Given the description of an element on the screen output the (x, y) to click on. 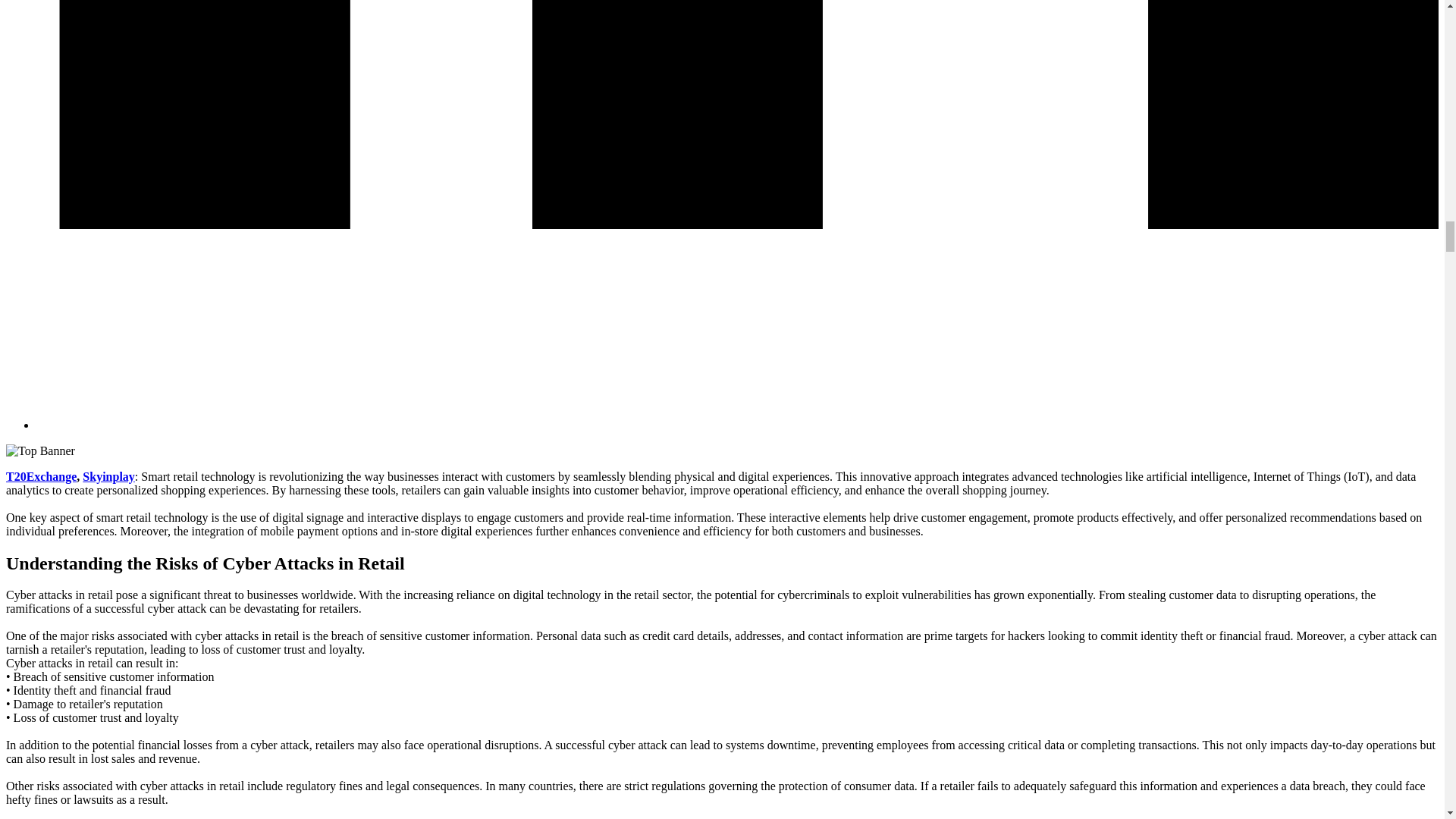
T20Exchange (41, 476)
Top Banner (40, 450)
Skyinplay (107, 476)
